Given the description of an element on the screen output the (x, y) to click on. 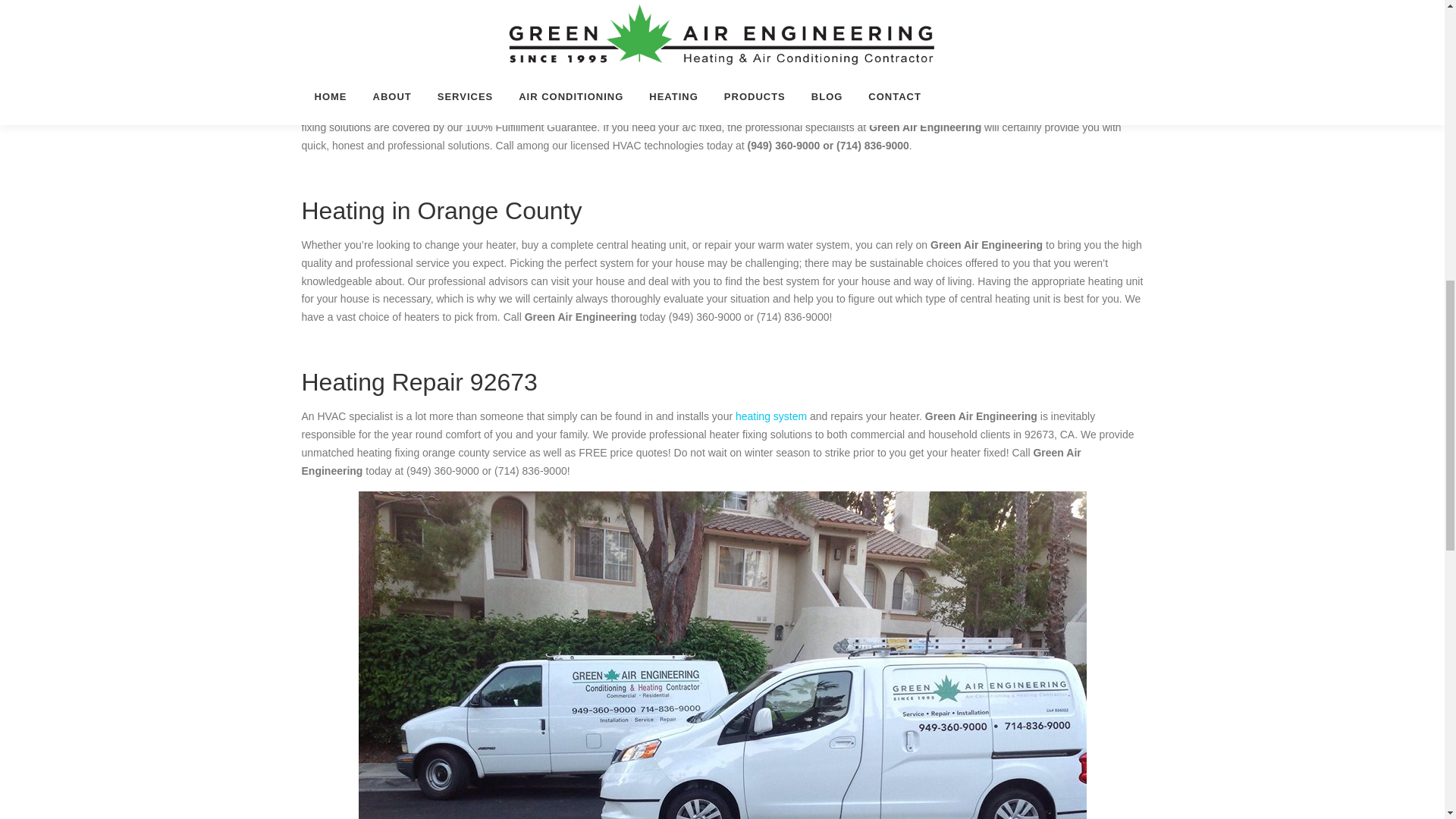
air conditioning (766, 110)
air conditioning (416, 73)
heating system (770, 416)
heating (844, 110)
